Given the description of an element on the screen output the (x, y) to click on. 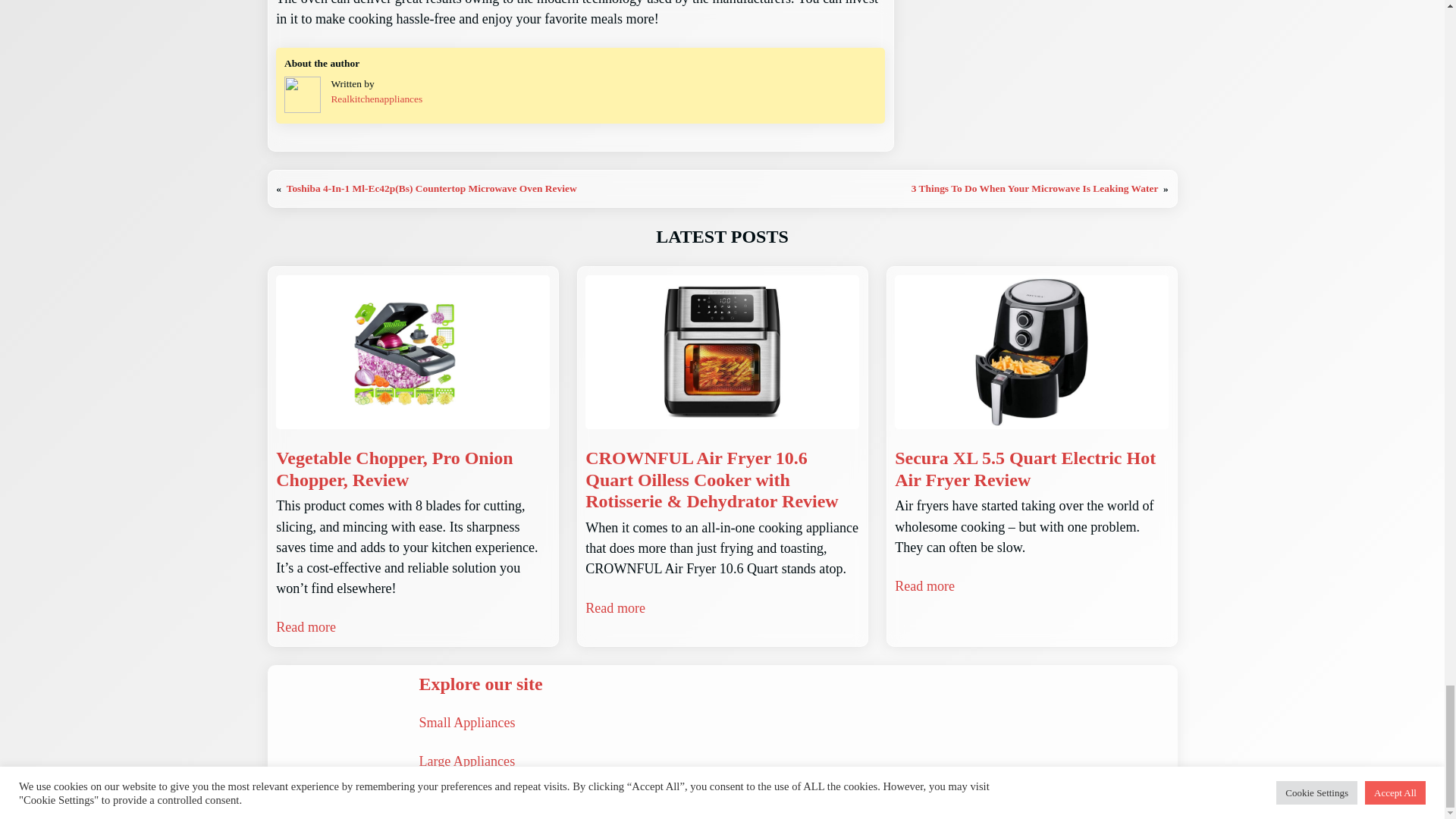
3 Things To Do When Your Microwave Is Leaking Water (1034, 188)
Realkitchenappliances (376, 98)
Vegetable Chopper, Pro Onion Chopper, Review (413, 469)
Read more (306, 627)
